Given the description of an element on the screen output the (x, y) to click on. 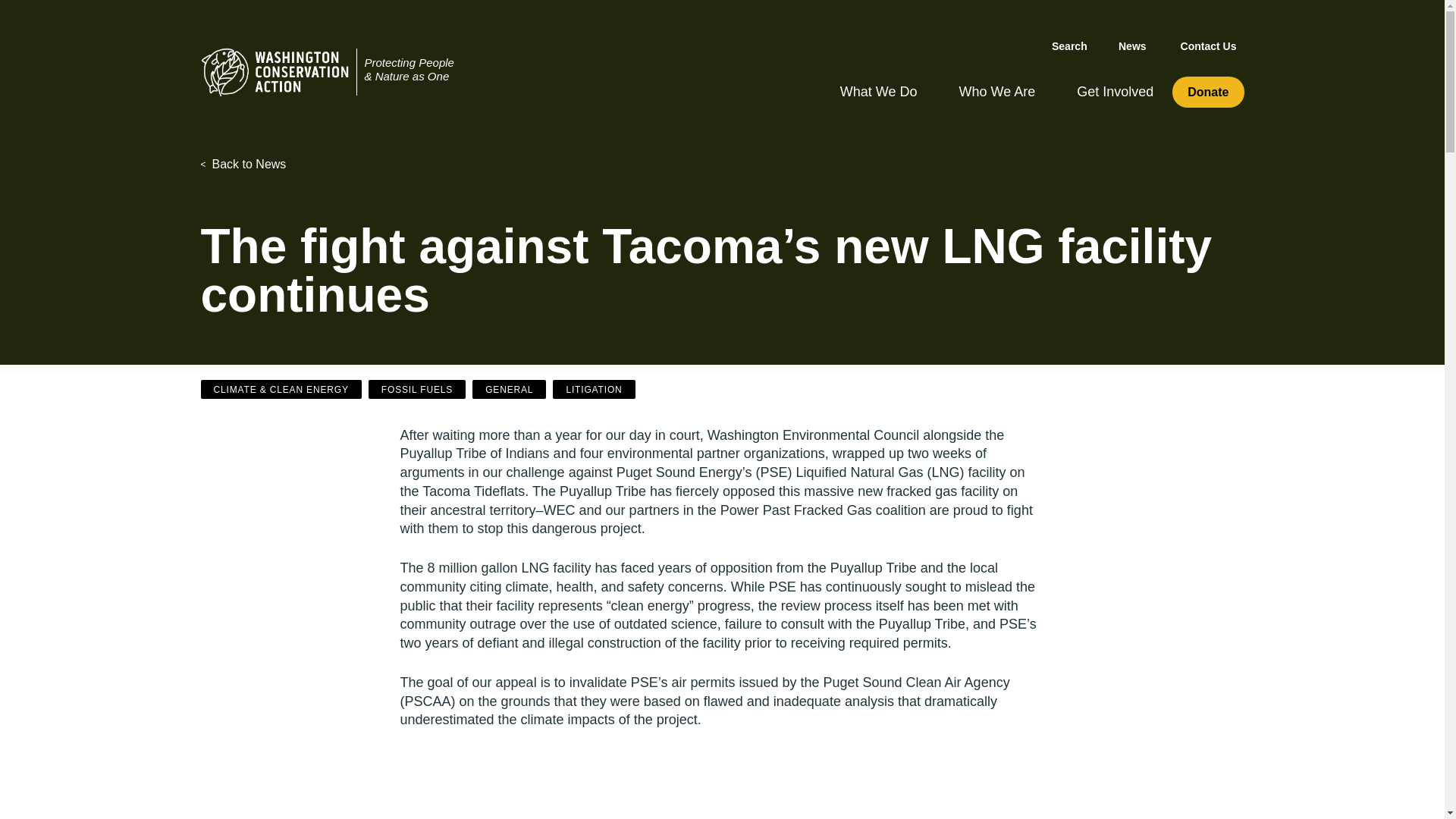
Get Involved (1115, 87)
News (1132, 42)
Donate (1207, 91)
What We Do (878, 87)
Who We Are (996, 87)
Contact Us (1208, 42)
Search (1098, 46)
